Given the description of an element on the screen output the (x, y) to click on. 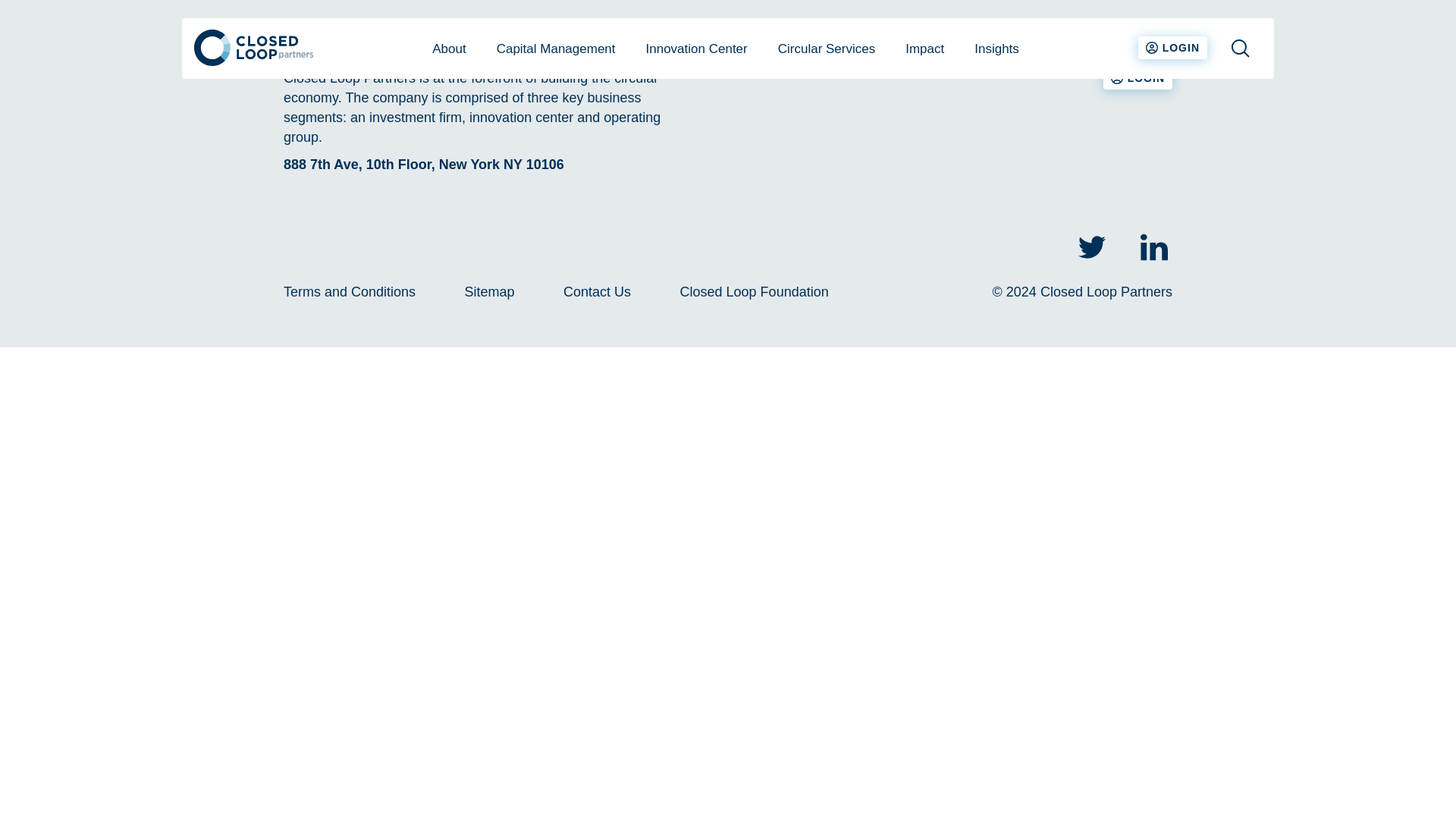
Innovation Center (696, 48)
Capital Management (555, 48)
Circular Services (825, 48)
About (448, 48)
